Given the description of an element on the screen output the (x, y) to click on. 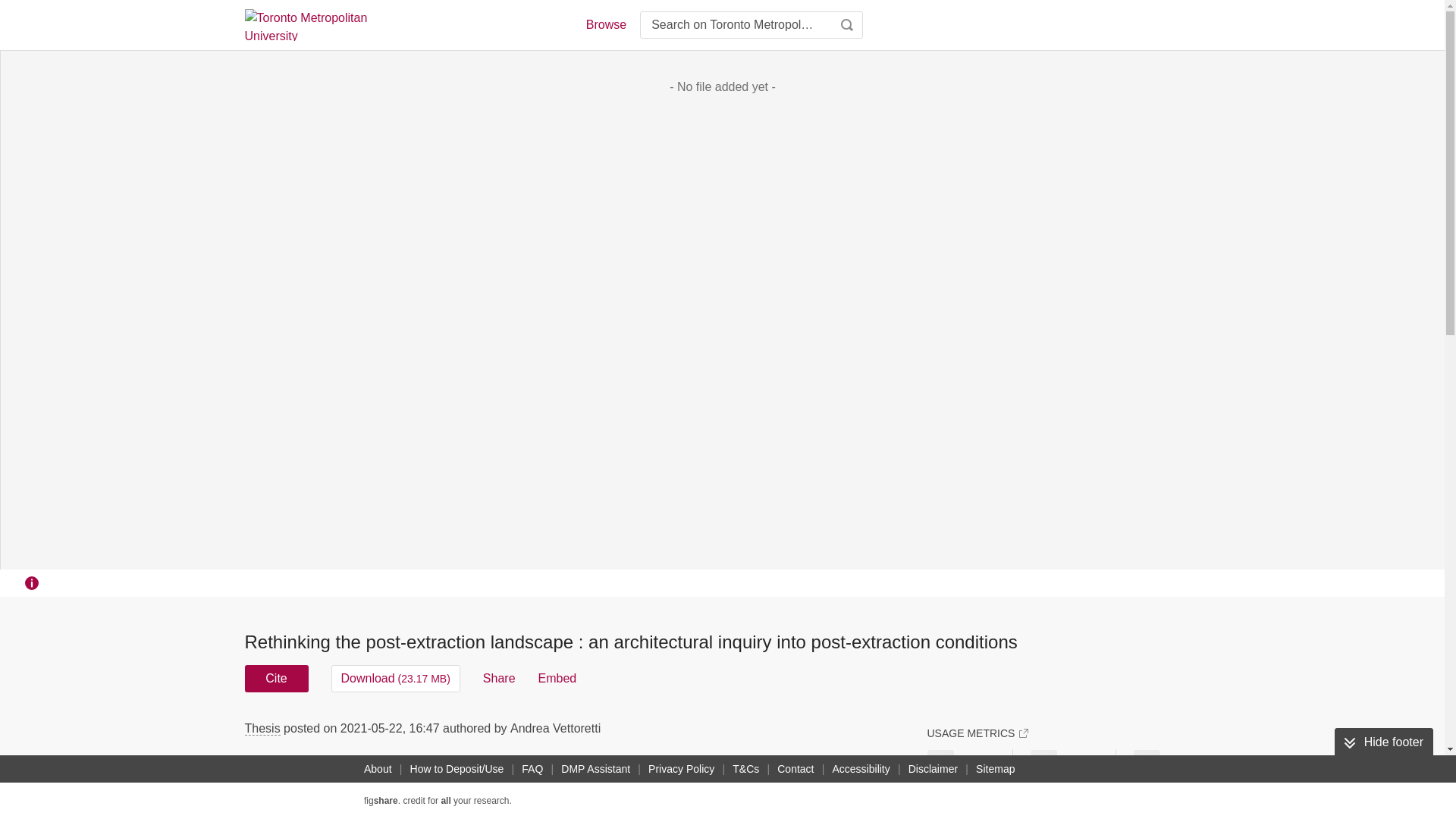
Privacy Policy (681, 769)
Share (499, 678)
Contact (795, 769)
Cite (275, 678)
Sitemap (995, 769)
About (377, 769)
Hide footer (1383, 742)
FAQ (531, 769)
Embed (557, 678)
USAGE METRICS (976, 732)
Disclaimer (933, 769)
Browse (605, 24)
DMP Assistant (595, 769)
Accessibility (861, 769)
